Given the description of an element on the screen output the (x, y) to click on. 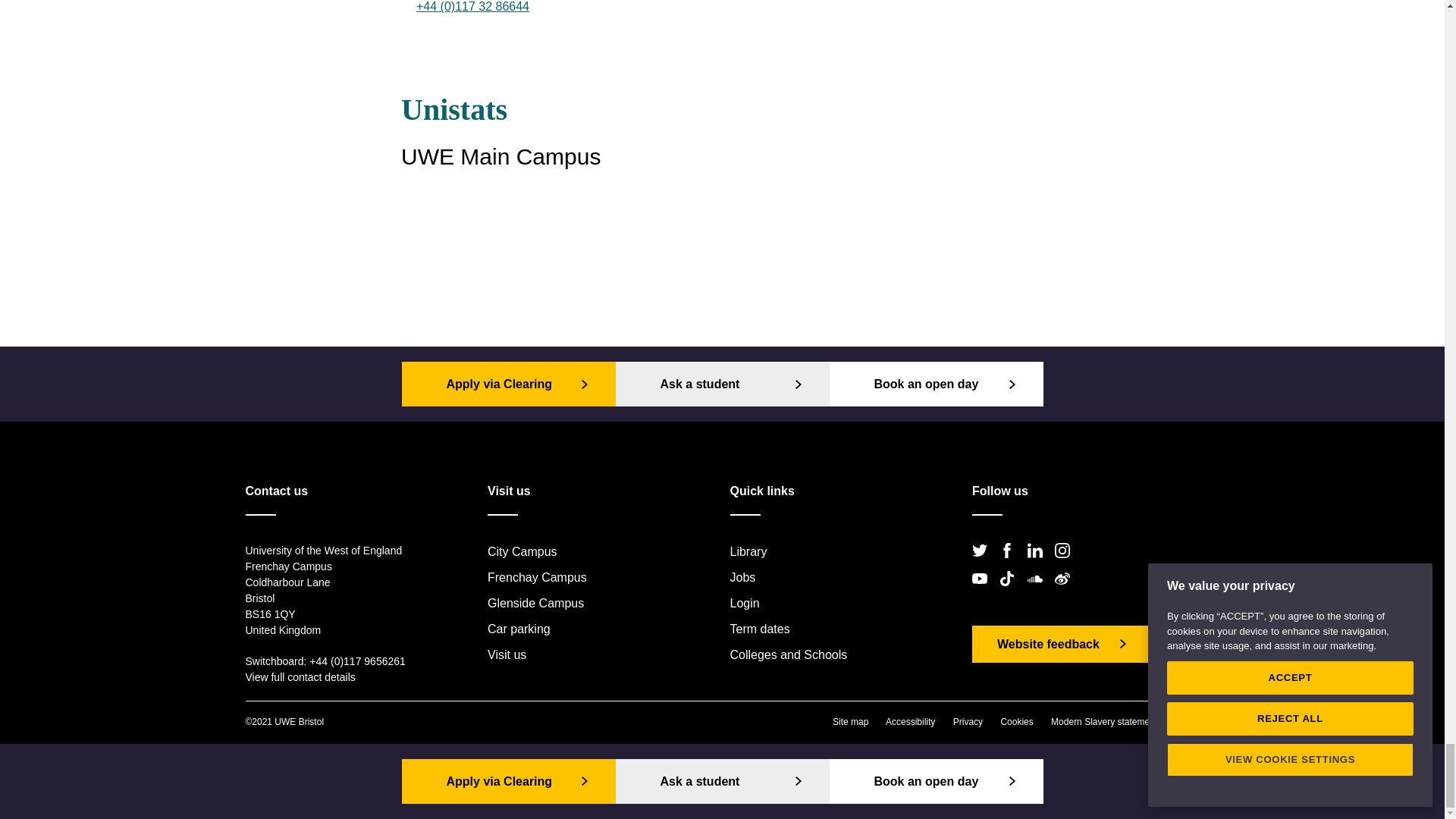
Weibo (1066, 590)
SoundCloud (1039, 590)
YouTube (983, 590)
TikTok (1010, 590)
LinkedIn (1039, 562)
Facebook (1010, 562)
Twitter (983, 562)
Instagram (1066, 562)
